Given the description of an element on the screen output the (x, y) to click on. 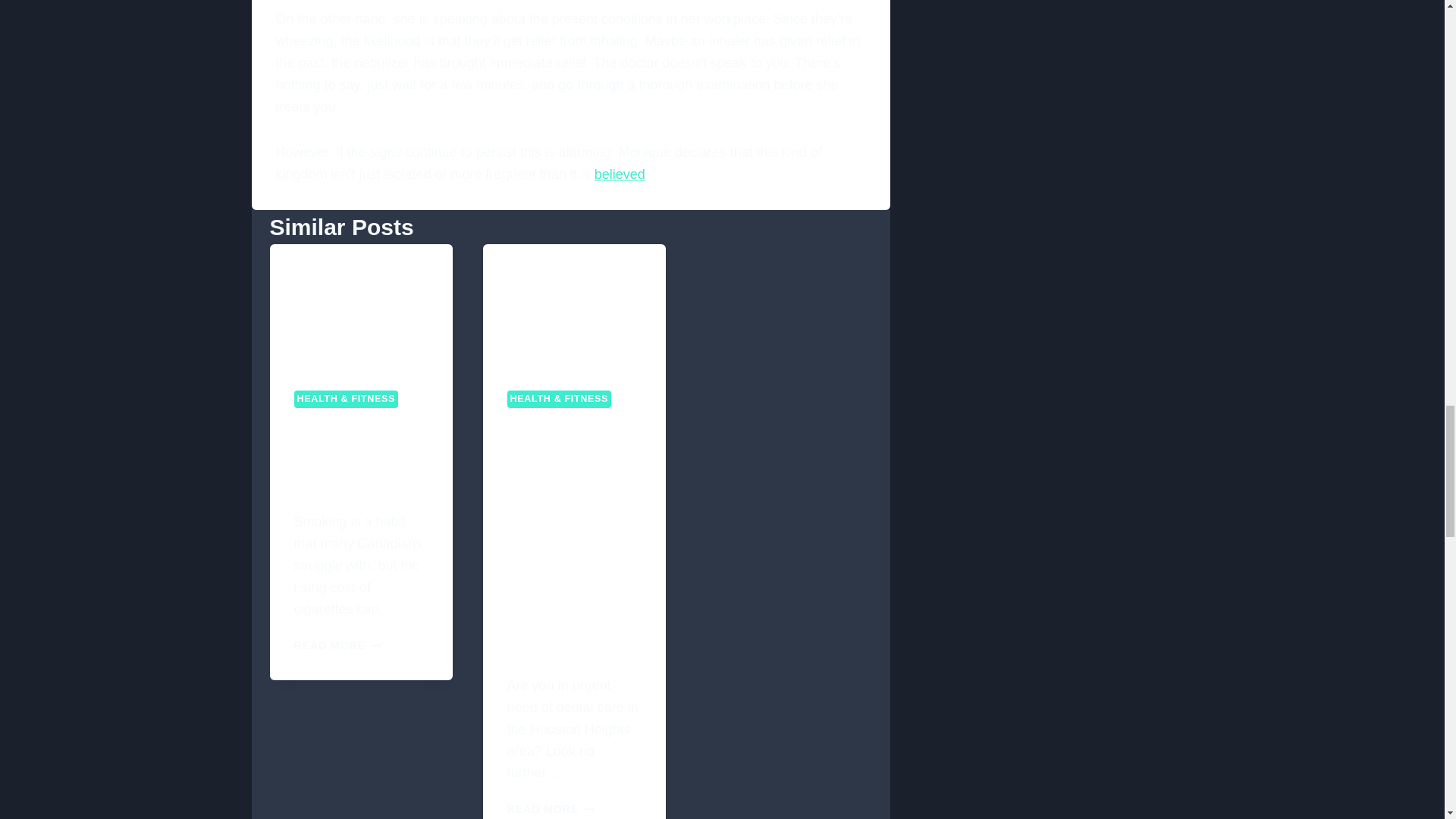
Cheap Cigarettes Canada (338, 455)
Cheap Cigarettes Canada (360, 305)
believed (619, 174)
